Given the description of an element on the screen output the (x, y) to click on. 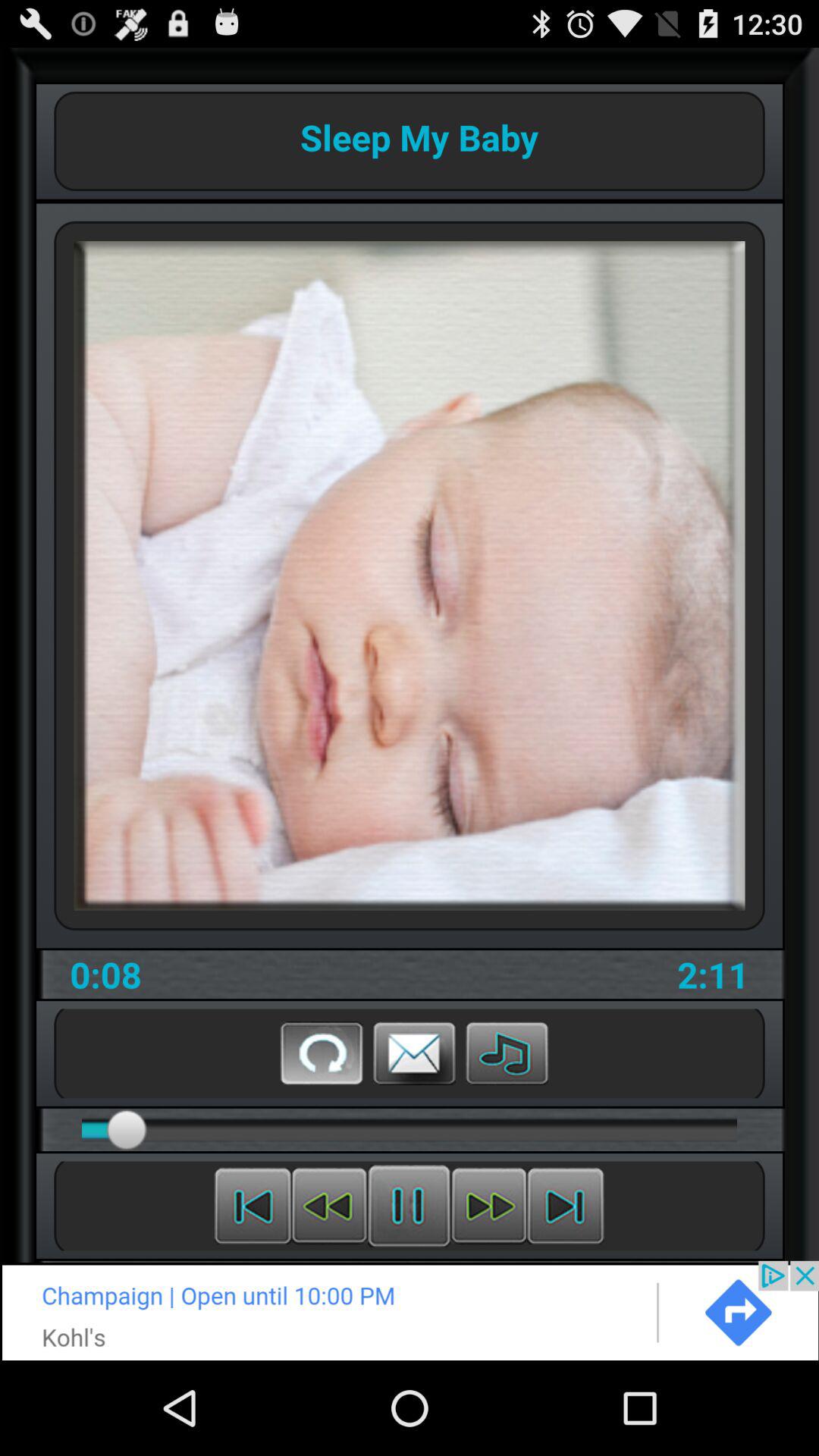
dangerous advertisement (409, 1310)
